Given the description of an element on the screen output the (x, y) to click on. 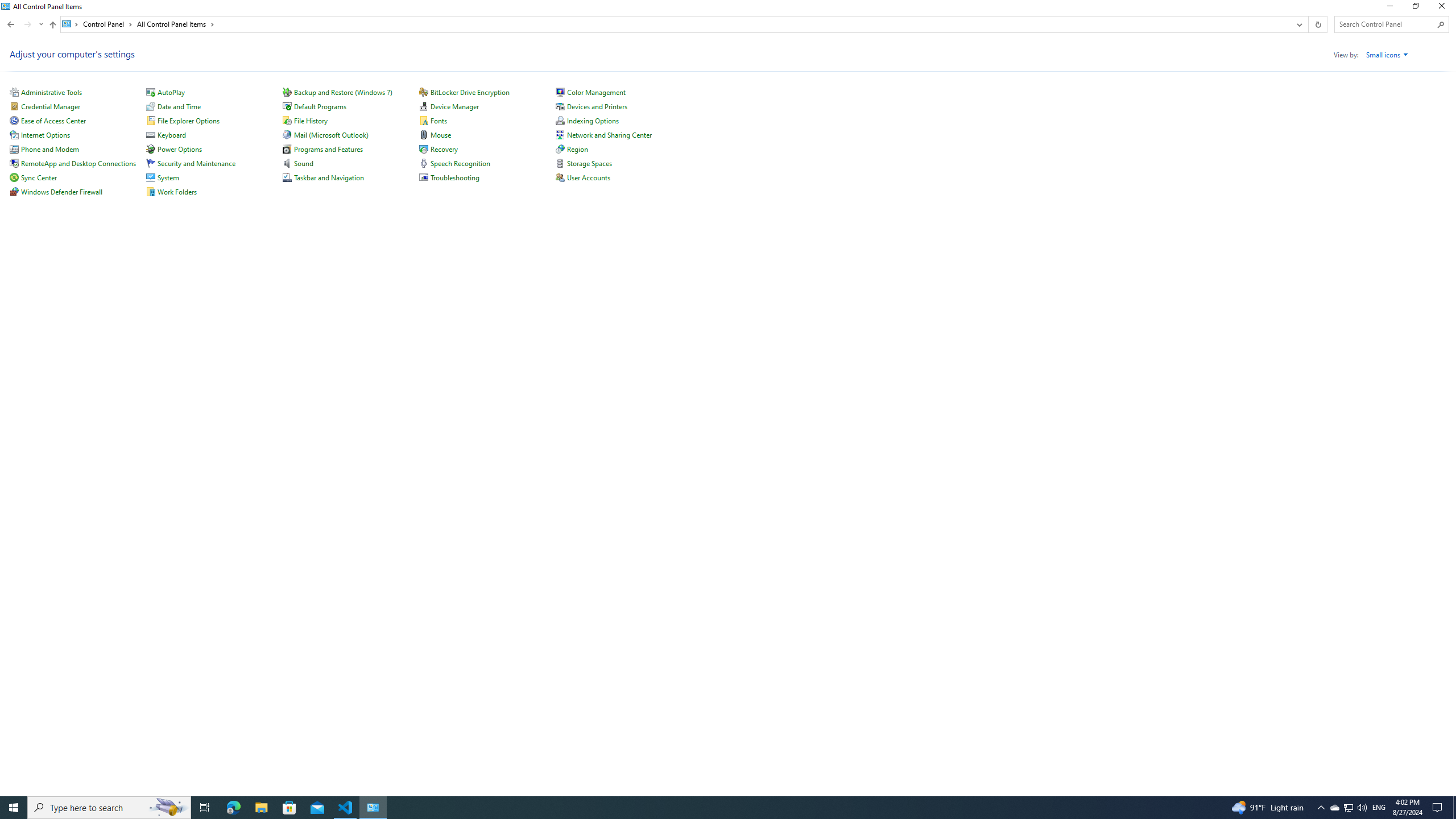
All locations (70, 23)
Programs and Features (328, 148)
Phone and Modem (50, 148)
Refresh "All Control Panel Items" (F5) (1316, 23)
Icon (559, 176)
System (6, 6)
File History (310, 120)
Forward (Alt + Right Arrow) (27, 23)
Device Manager (454, 106)
Administrative Tools (51, 92)
Security and Maintenance (195, 162)
Color Management (596, 92)
Devices and Printers (597, 106)
